Given the description of an element on the screen output the (x, y) to click on. 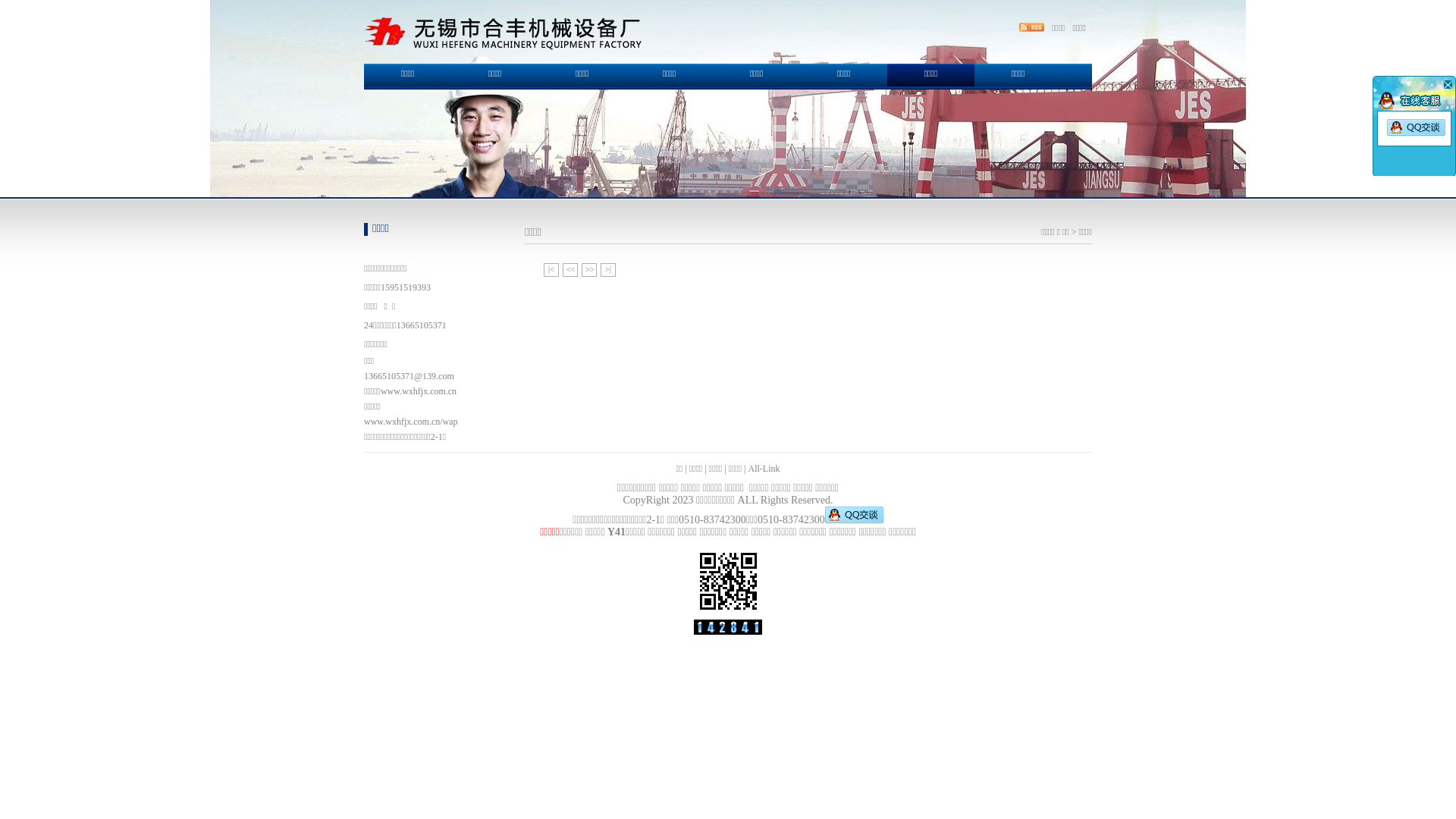
>> Element type: text (588, 269)
<< Element type: text (569, 269)
|< Element type: text (550, 269)
www.wxhfjx.com.cn/wap Element type: text (411, 421)
All-Link Element type: text (763, 468)
  Element type: text (1446, 84)
www.wxhfjx.com.cn Element type: text (418, 390)
>| Element type: text (607, 269)
